Given the description of an element on the screen output the (x, y) to click on. 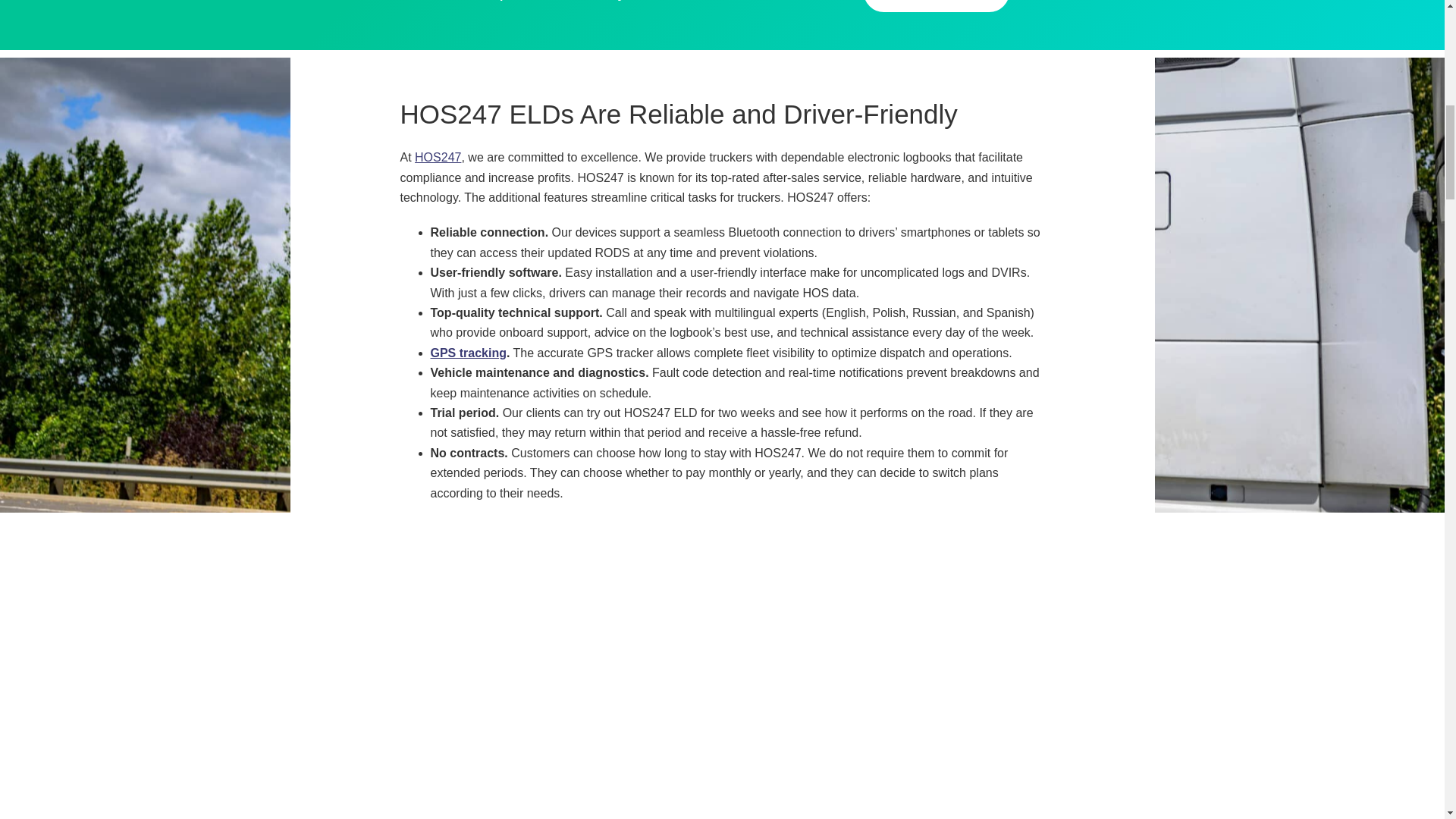
HOS247 (437, 156)
GPS tracking (468, 352)
See Pricing (936, 6)
